Given the description of an element on the screen output the (x, y) to click on. 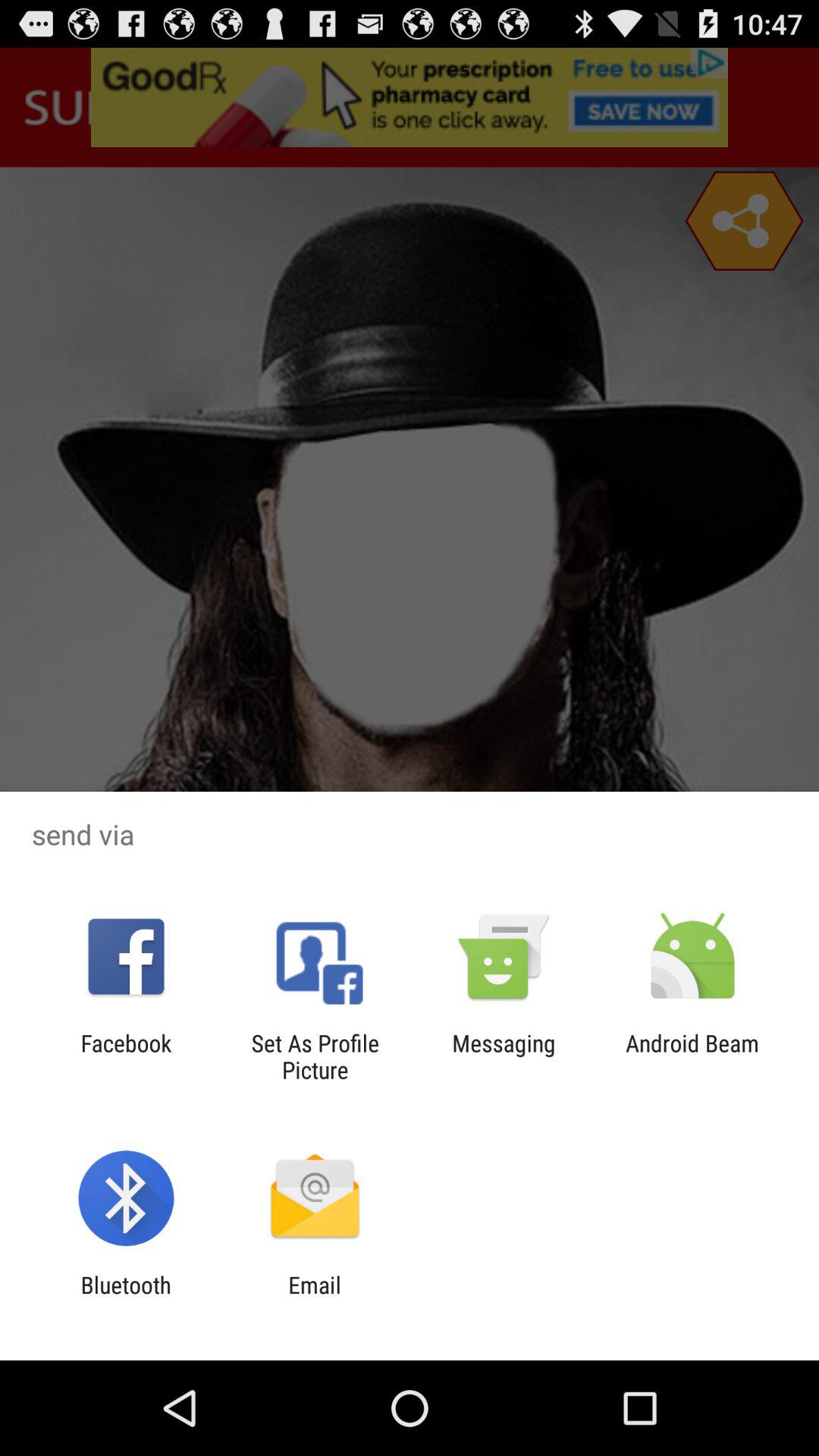
swipe until set as profile (314, 1056)
